Given the description of an element on the screen output the (x, y) to click on. 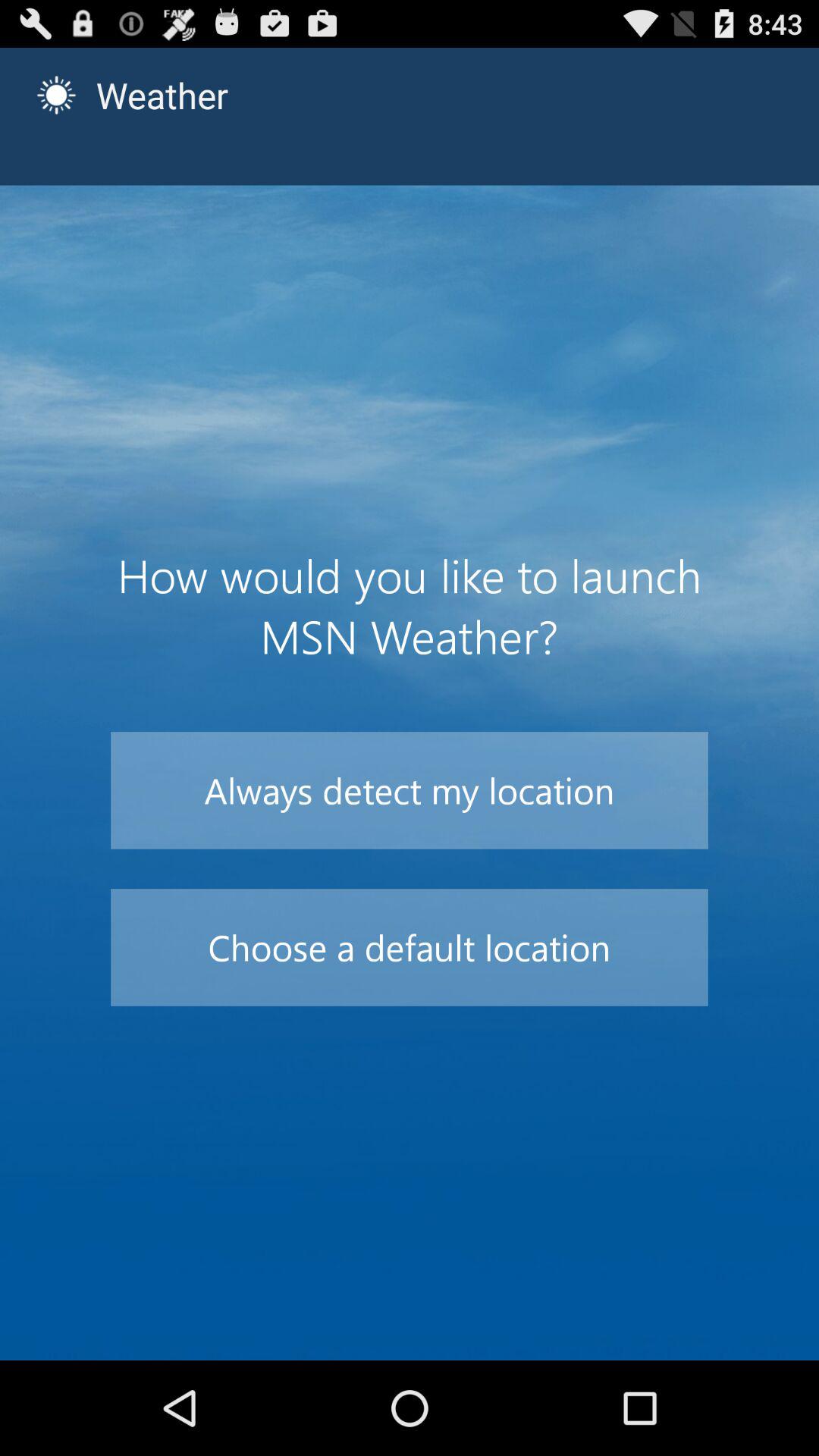
turn off always detect my icon (409, 790)
